Given the description of an element on the screen output the (x, y) to click on. 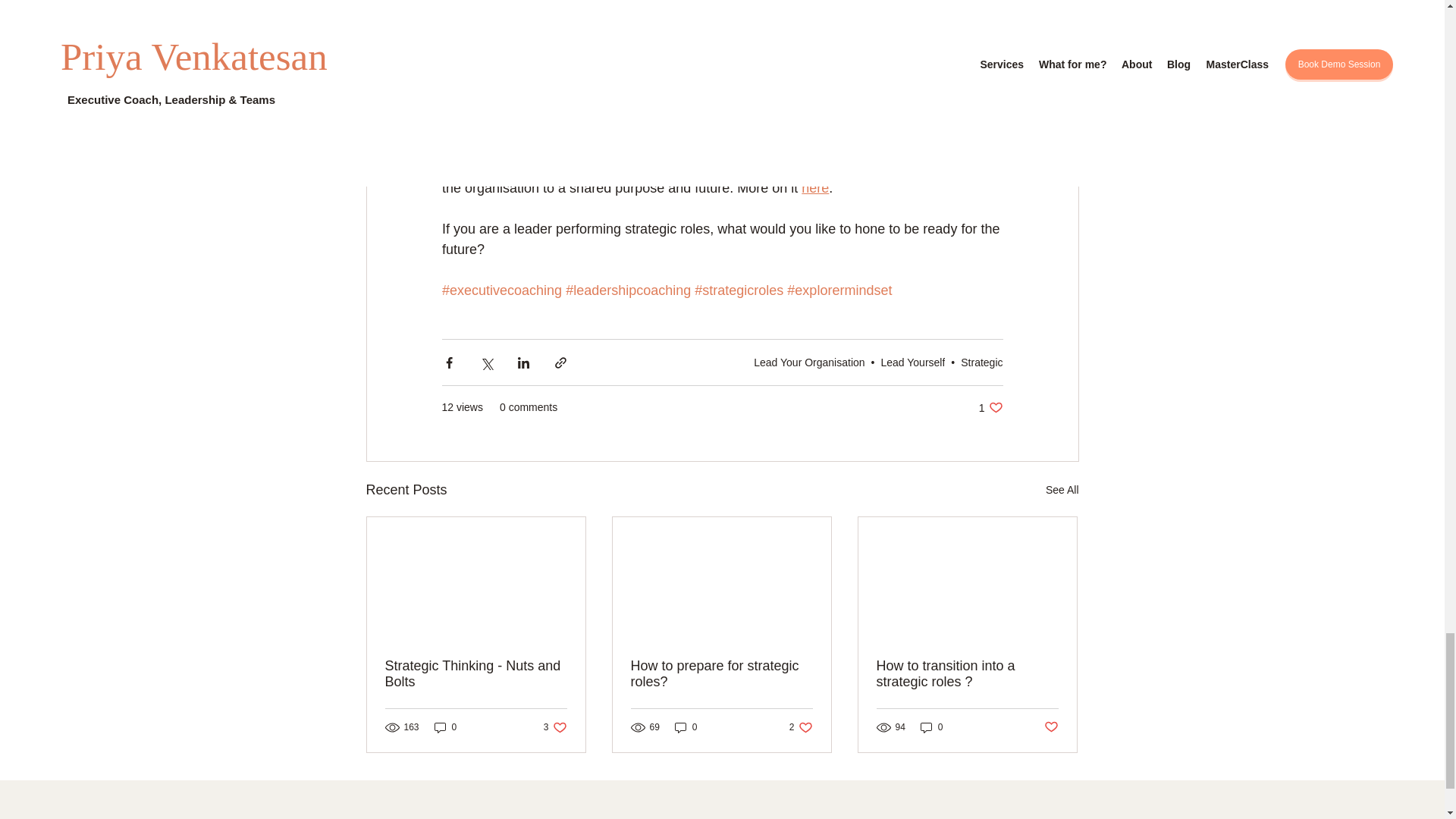
0 (445, 727)
How to transition into a strategic roles ? (967, 674)
How to prepare for strategic roles? (555, 727)
Strategic Thinking - Nuts and Bolts (721, 674)
Lead Your Organisation (990, 407)
here (476, 674)
0 (809, 362)
0 (815, 187)
